Given the description of an element on the screen output the (x, y) to click on. 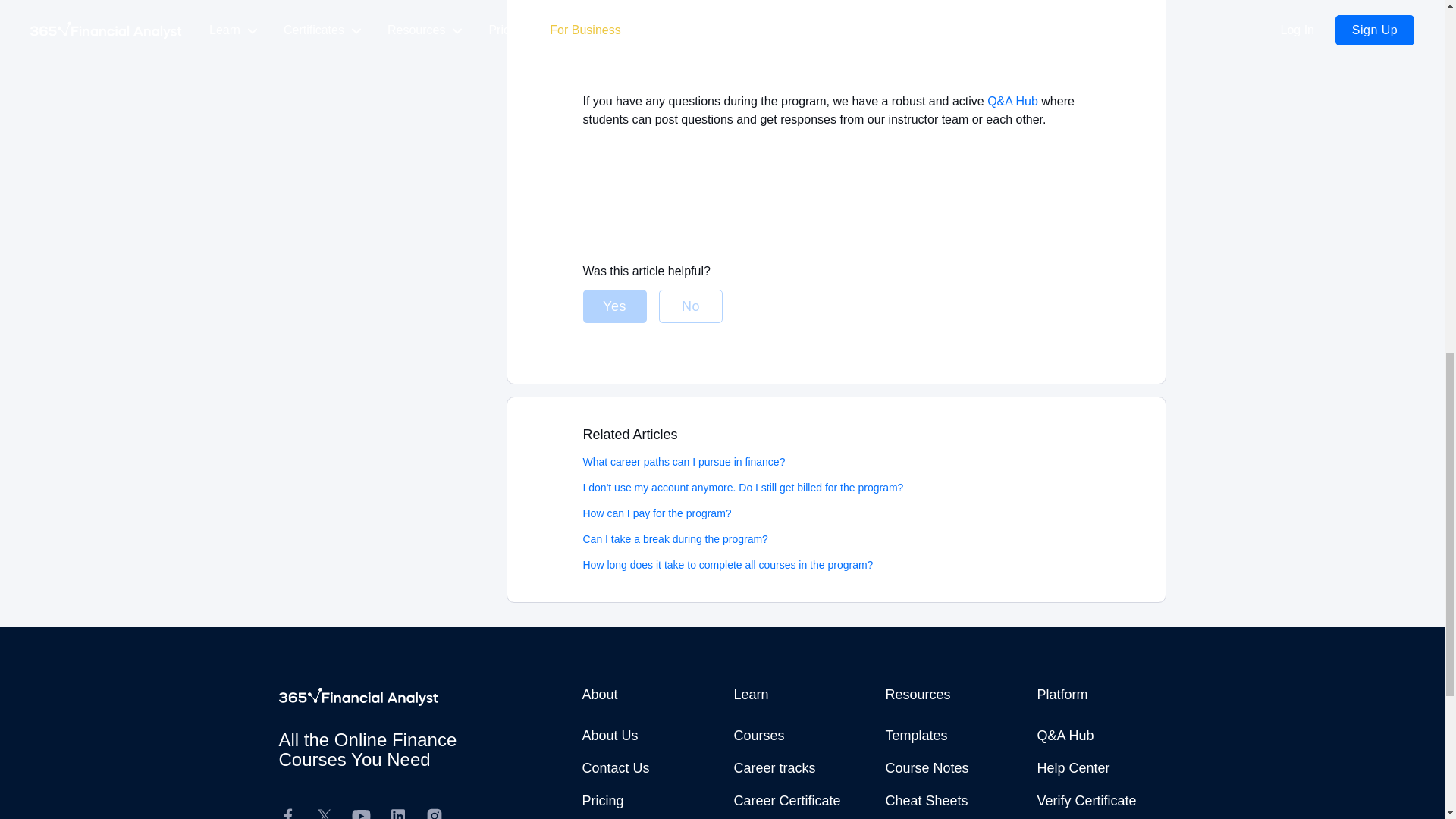
What career paths can I pursue in finance? (683, 461)
How can I pay for the program? (656, 512)
Can I take a break during the program? (674, 539)
No (690, 305)
Yes (614, 305)
